Given the description of an element on the screen output the (x, y) to click on. 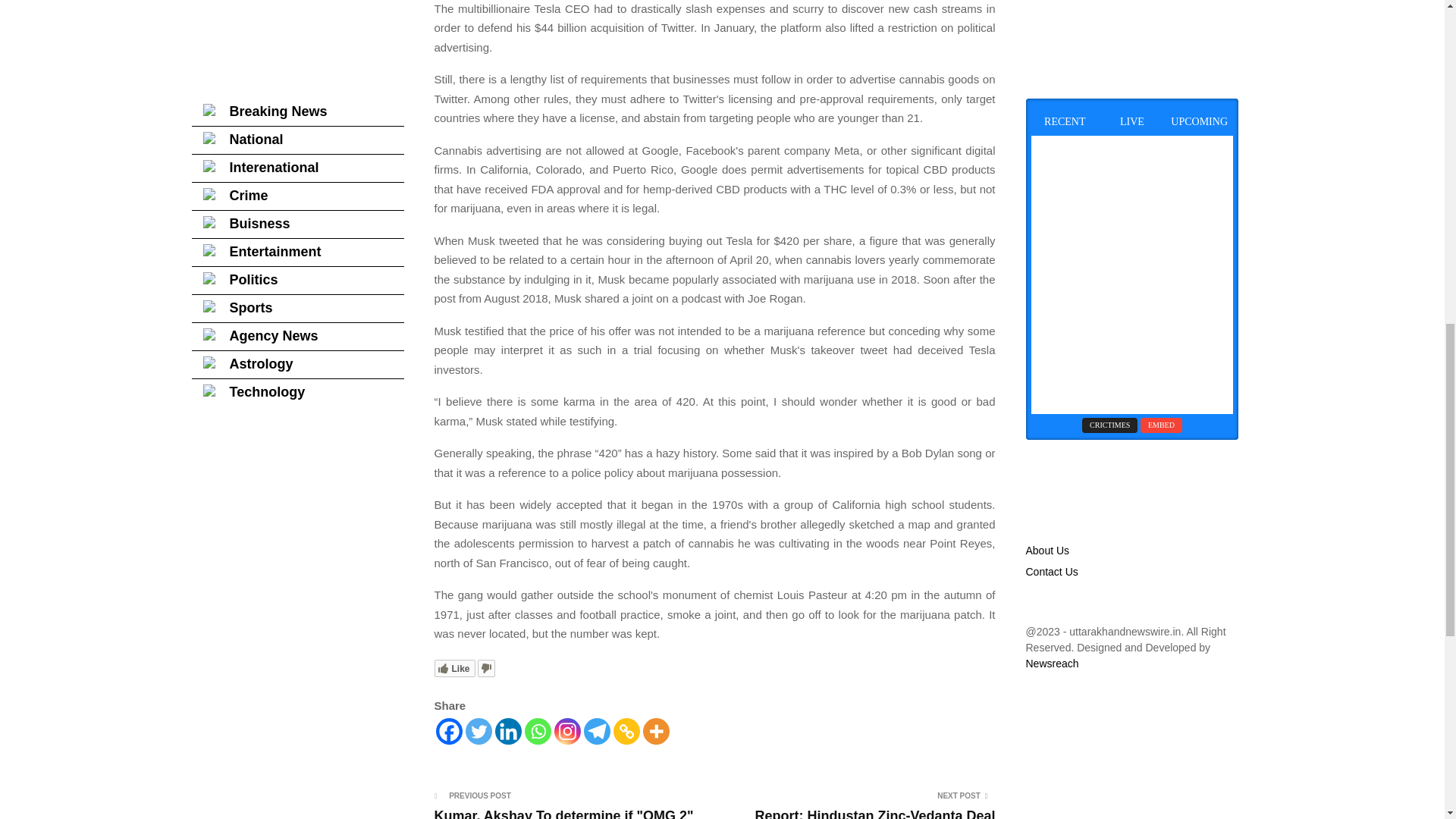
Facebook (448, 731)
